Given the description of an element on the screen output the (x, y) to click on. 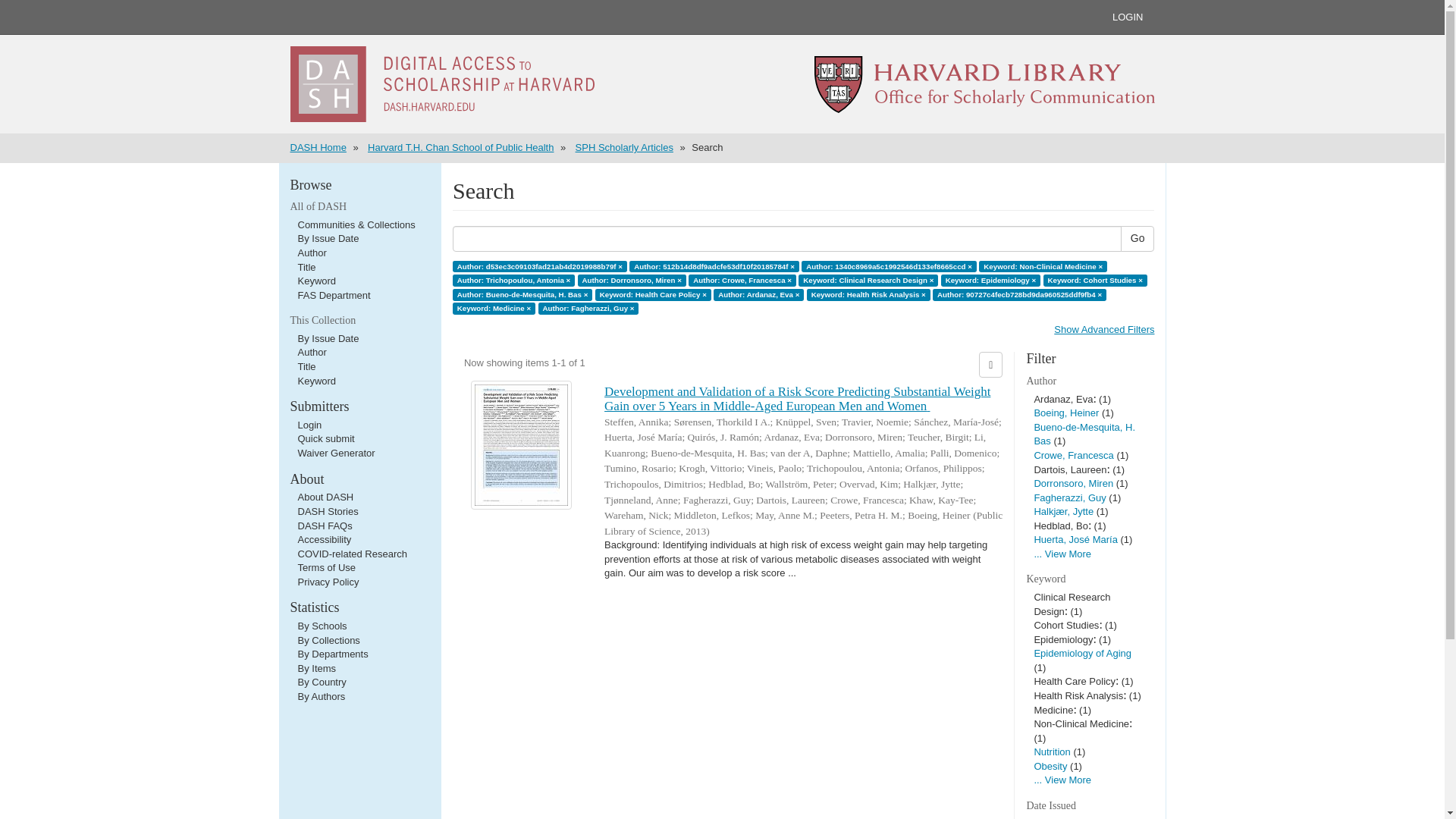
Keyword (316, 380)
Title (306, 366)
Keyword (316, 280)
By Issue Date (327, 238)
Login (309, 424)
By Issue Date (327, 337)
Waiver Generator (335, 452)
Author (311, 252)
Title (306, 266)
SPH Scholarly Articles (623, 147)
Author (311, 351)
FAS Department (333, 295)
Quick submit (325, 438)
LOGIN (1127, 17)
DASH Home (317, 147)
